Given the description of an element on the screen output the (x, y) to click on. 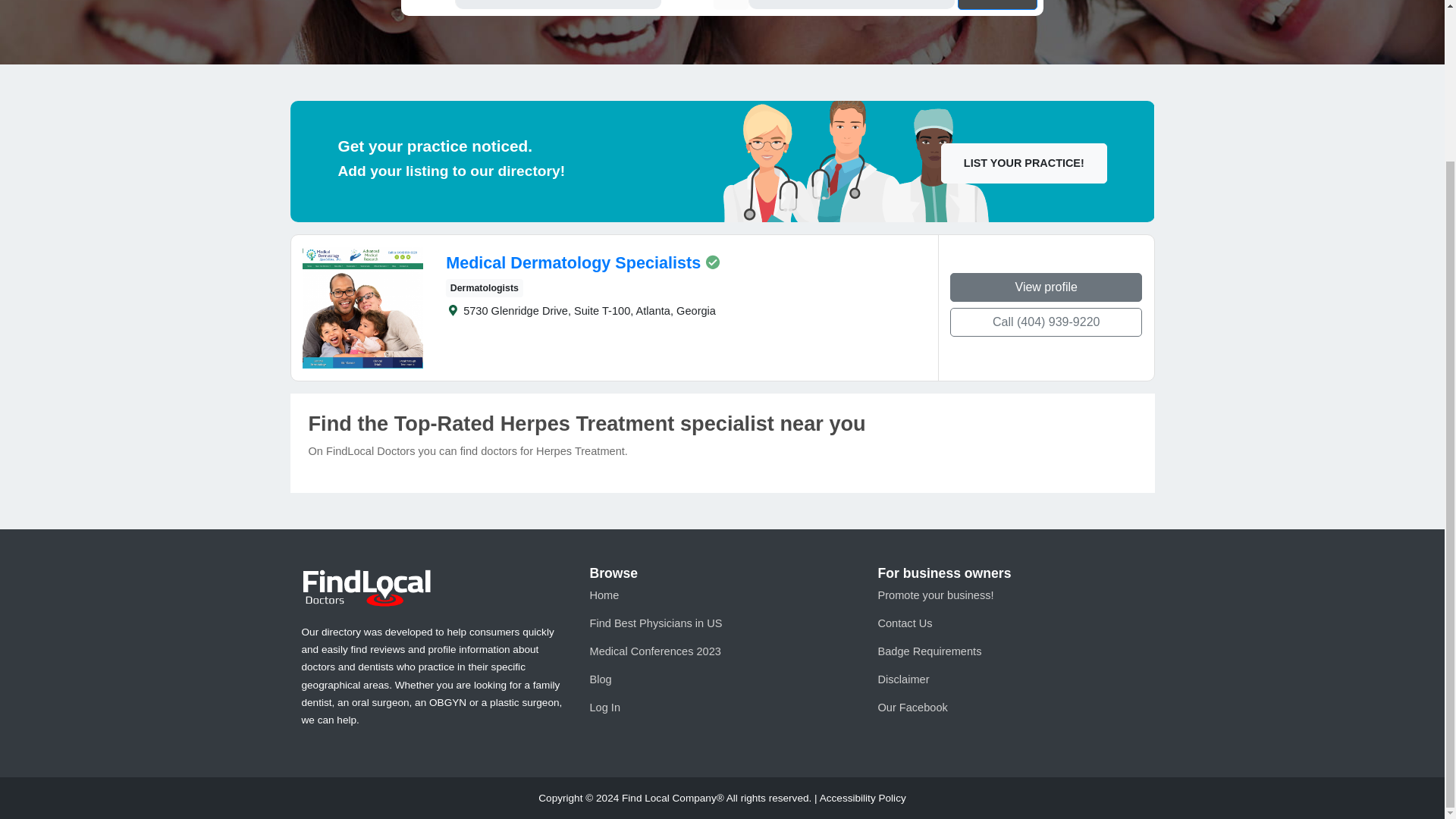
Medical Conferences 2023 (654, 651)
Blog (600, 679)
Badge Requirements (929, 651)
Medical Dermatology Specialists (572, 262)
Log In (604, 707)
View profile (1046, 287)
View the profile of Medical Dermatology Specialists (572, 262)
Find Best Physicians in US (655, 623)
LIST YOUR PRACTICE! (1023, 162)
Search (997, 4)
Promote your business! (934, 594)
Accessibility Policy (862, 797)
Contact Us (904, 623)
Disclaimer (902, 679)
Our Facebook (912, 707)
